Given the description of an element on the screen output the (x, y) to click on. 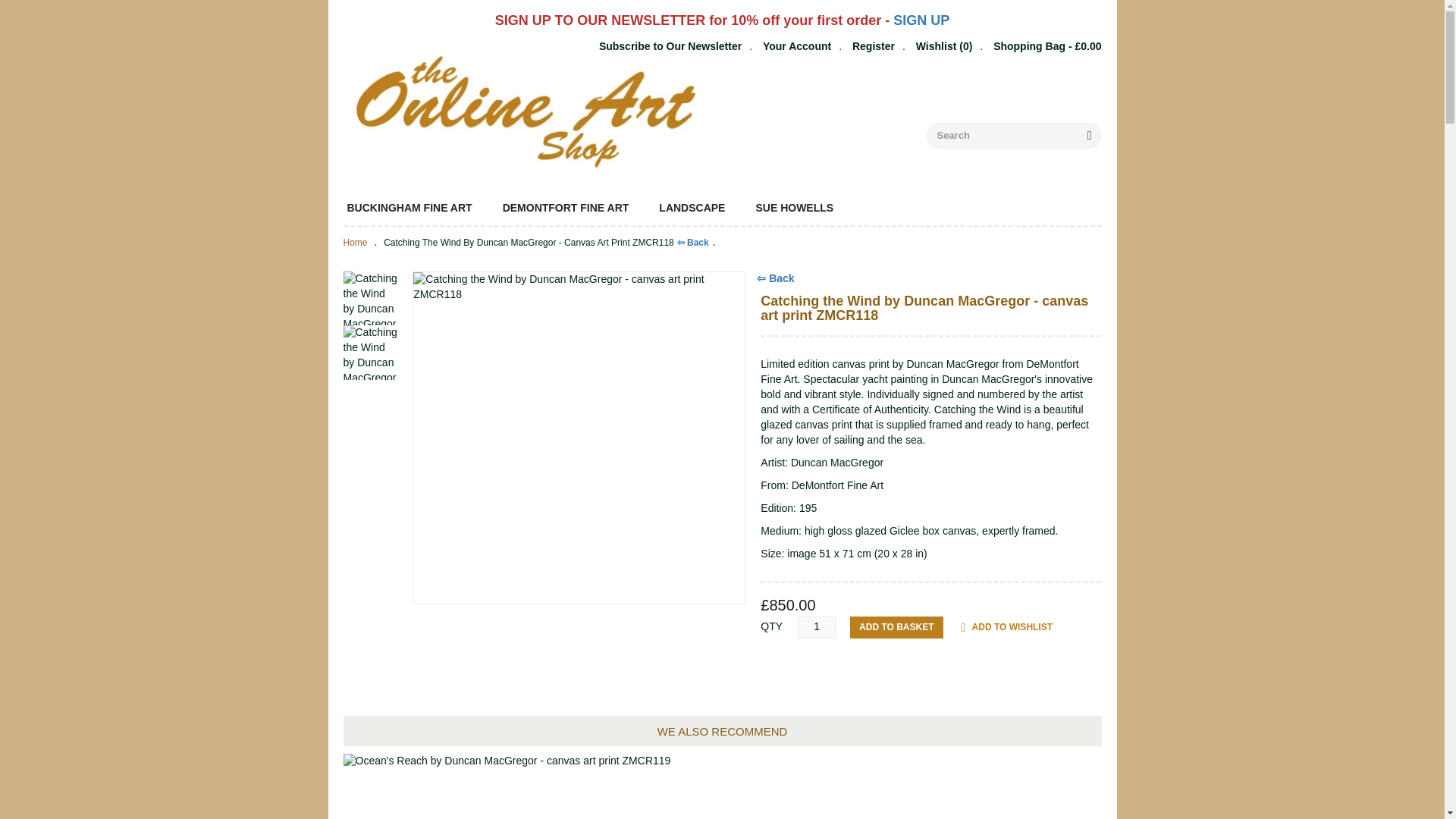
DEMONTFORT FINE ART (566, 207)
SIGN UP (921, 21)
LANDSCAPE (692, 207)
1 (816, 627)
Your Account (796, 46)
BUCKINGHAM FINE ART (409, 207)
Register (873, 46)
Subscribe to Our Newsletter (669, 46)
